Given the description of an element on the screen output the (x, y) to click on. 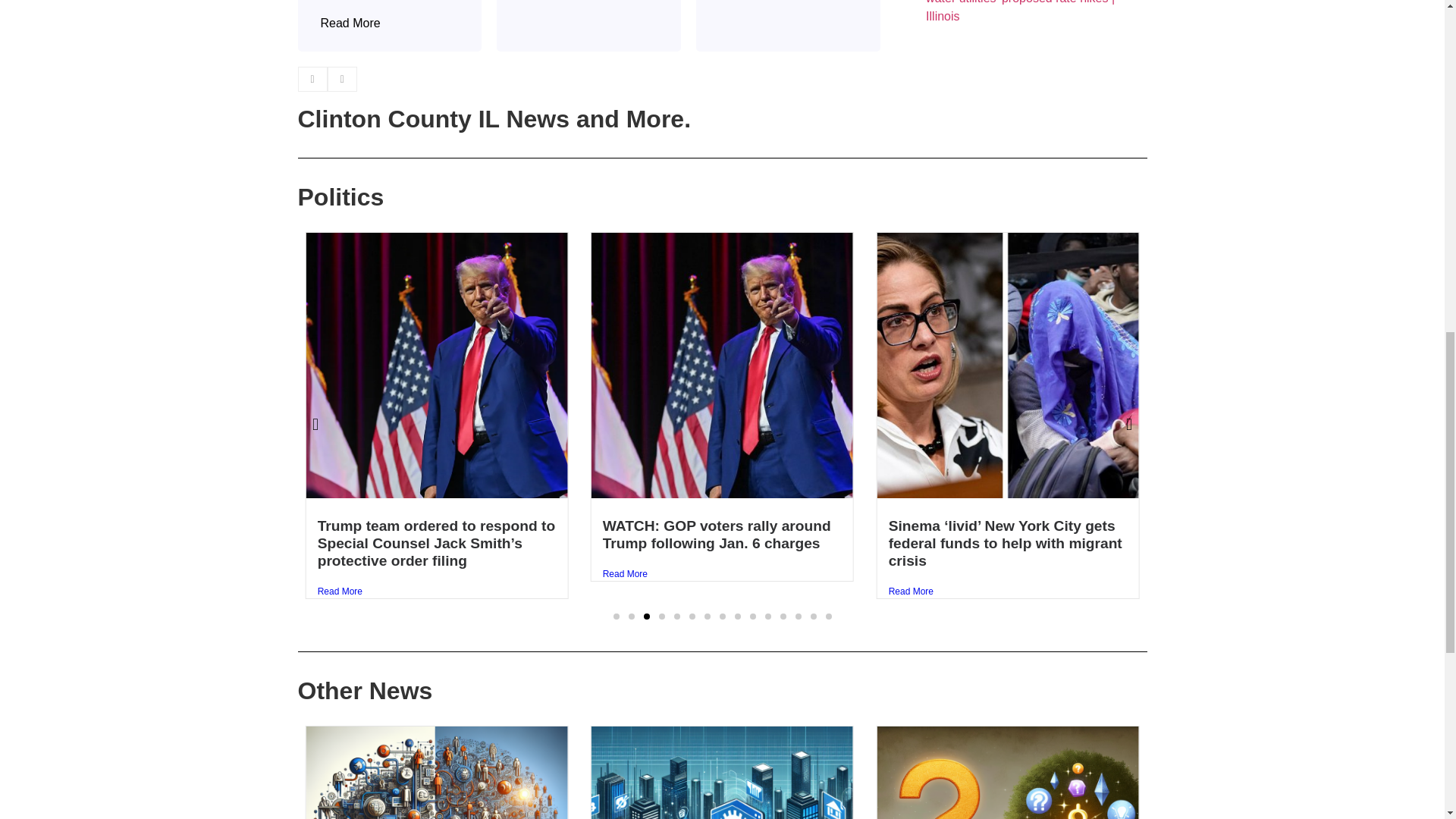
Clinton County IL News and More. (493, 118)
Read More (350, 23)
